Given the description of an element on the screen output the (x, y) to click on. 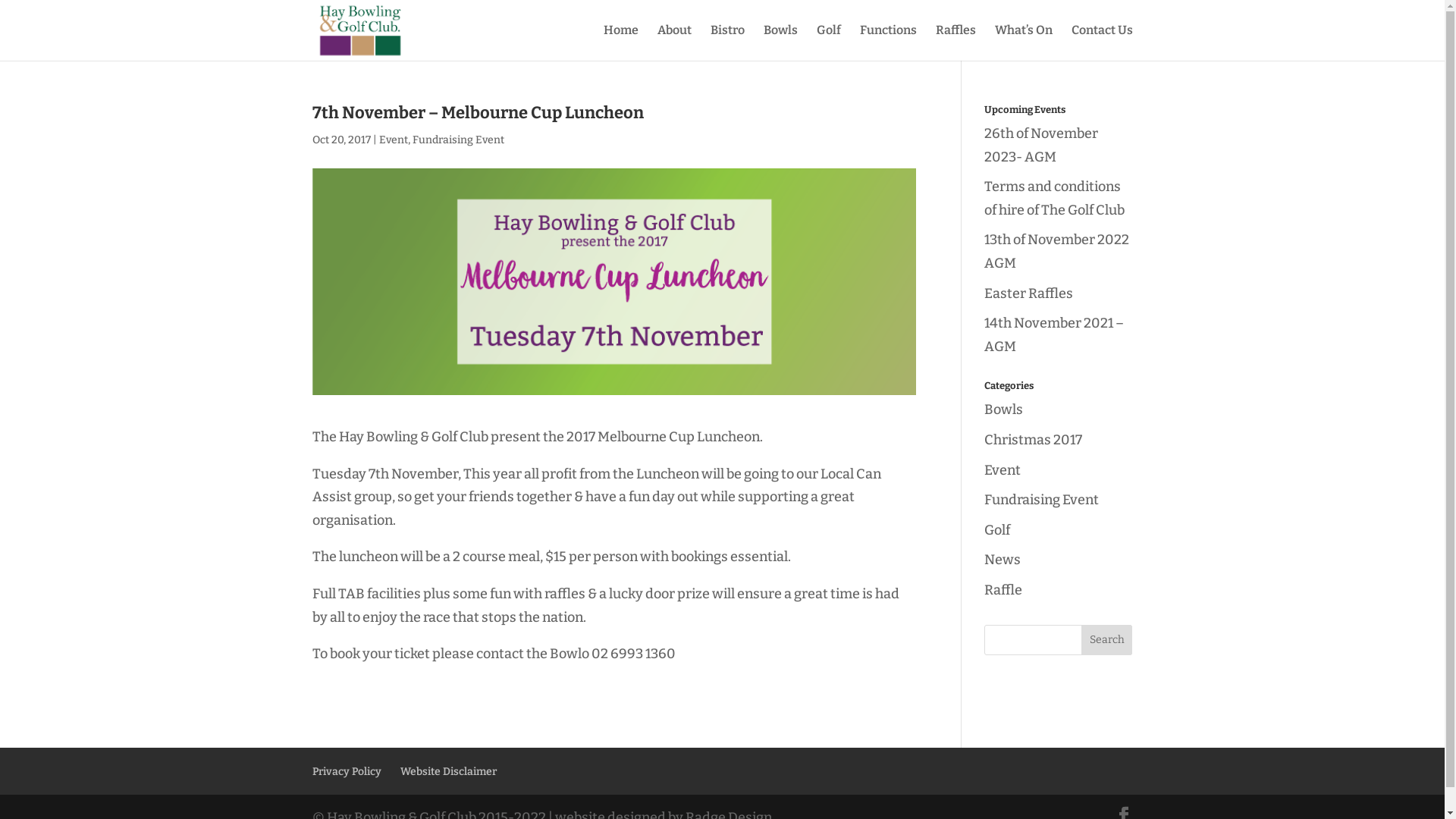
Website Disclaimer Element type: text (448, 771)
Home Element type: text (620, 42)
Bowls Element type: text (779, 42)
Search Element type: text (1106, 639)
About Element type: text (673, 42)
Contact Us Element type: text (1101, 42)
Terms and conditions of hire of The Golf Club Element type: text (1054, 198)
News Element type: text (1002, 559)
Christmas 2017 Element type: text (1033, 439)
26th of November 2023- AGM Element type: text (1041, 145)
Easter Raffles Element type: text (1028, 293)
Raffles Element type: text (955, 42)
Golf Element type: text (827, 42)
Event Element type: text (393, 139)
Fundraising Event Element type: text (1041, 499)
Bowls Element type: text (1003, 409)
Fundraising Event Element type: text (458, 139)
Raffle Element type: text (1003, 589)
13th of November 2022 AGM Element type: text (1056, 251)
Golf Element type: text (997, 529)
Bistro Element type: text (726, 42)
Event Element type: text (1002, 469)
Functions Element type: text (887, 42)
Privacy Policy Element type: text (346, 771)
